Given the description of an element on the screen output the (x, y) to click on. 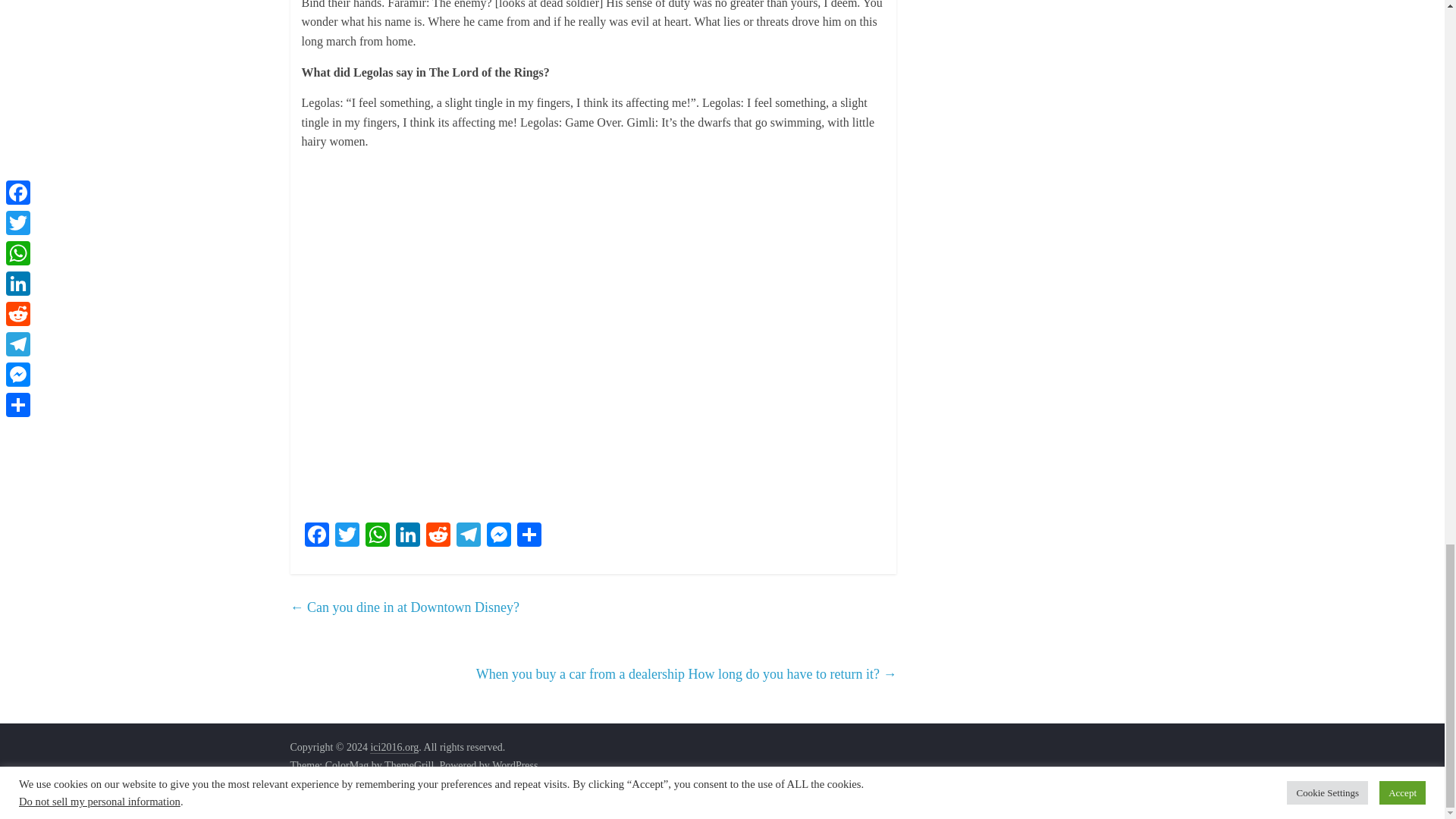
Messenger (498, 535)
Messenger (498, 535)
LinkedIn (408, 535)
Facebook (316, 535)
Twitter (346, 535)
WhatsApp (377, 535)
Reddit (437, 535)
Telegram (467, 535)
Reddit (437, 535)
